Given the description of an element on the screen output the (x, y) to click on. 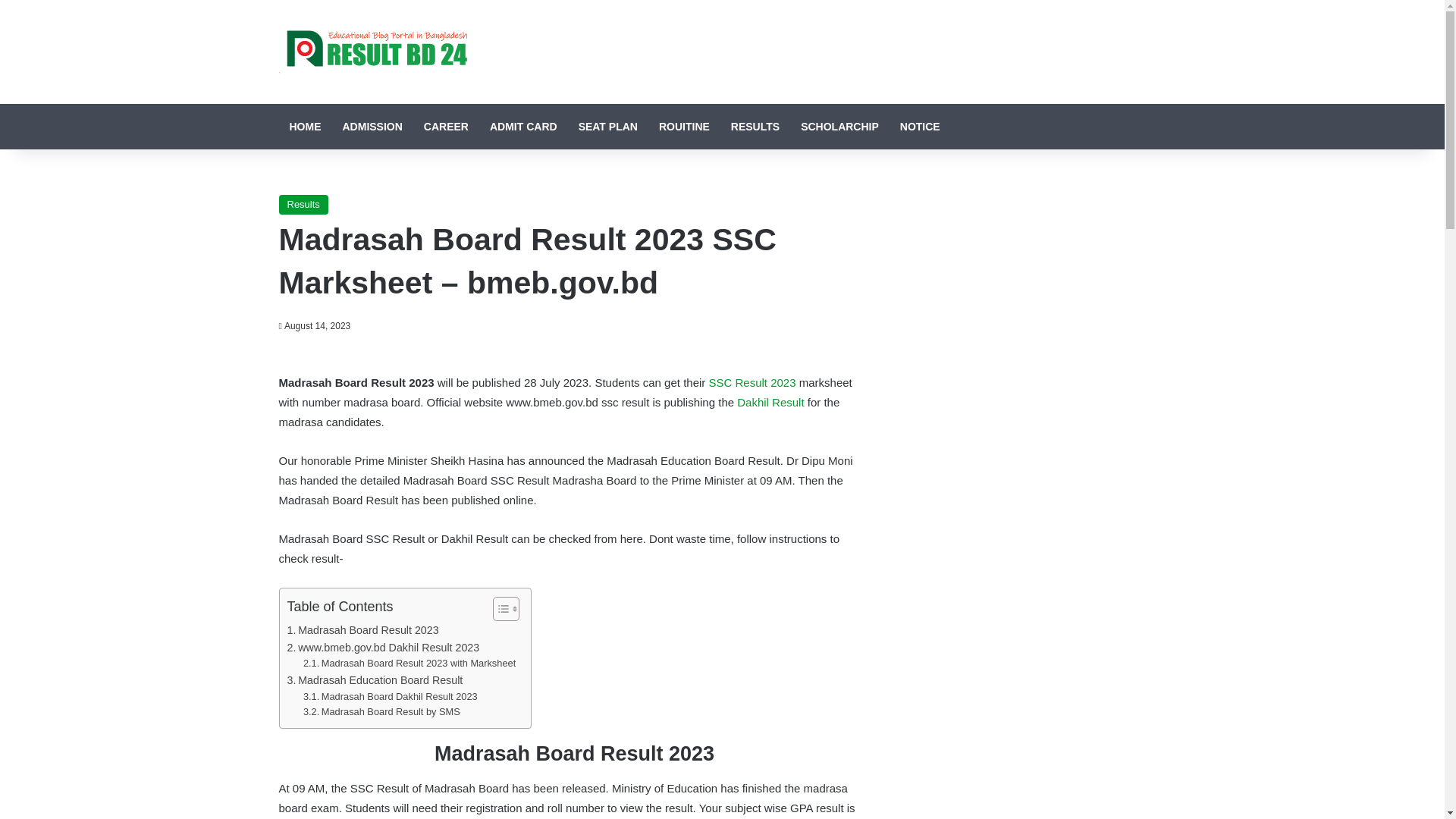
SCHOLARCHIP (839, 126)
Madrasah Board Dakhil Result 2023 (389, 697)
Madrasah Board Dakhil Result 2023 (389, 697)
RESULTS (755, 126)
Madrasah Education Board Result (374, 680)
ROUITINE (683, 126)
ADMIT CARD (523, 126)
Result BD 24 (373, 51)
Madrasah Board Result 2023 with Marksheet (408, 663)
Madrasah Education Board Result (374, 680)
